Given the description of an element on the screen output the (x, y) to click on. 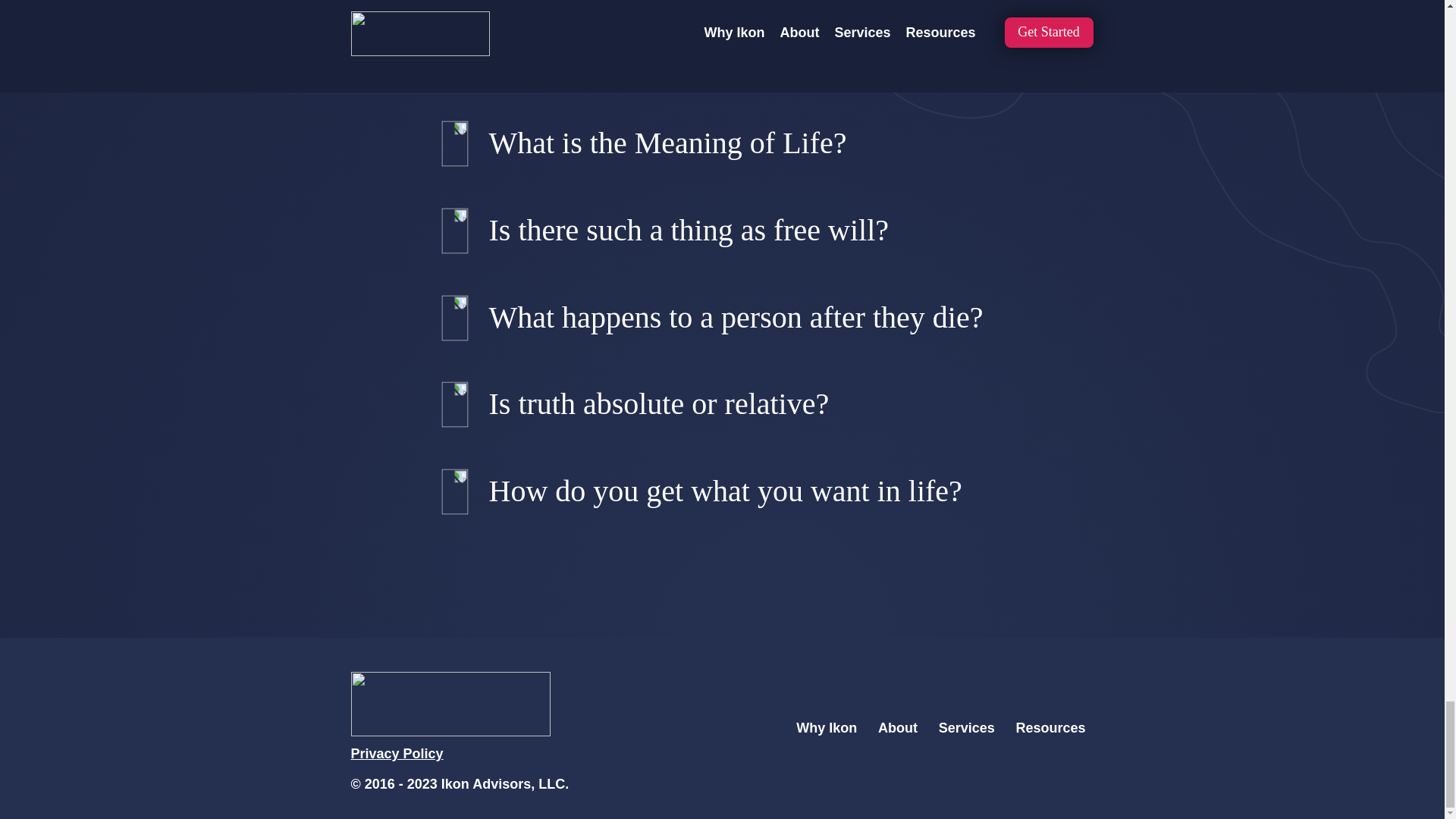
FAQ Arrow.png (463, 395)
Why Ikon (827, 728)
FAQ Arrow.png (463, 134)
About (897, 728)
FAQ Arrow.png (463, 482)
FAQ Arrow.png (463, 307)
FAQ Arrow.png (463, 221)
